Given the description of an element on the screen output the (x, y) to click on. 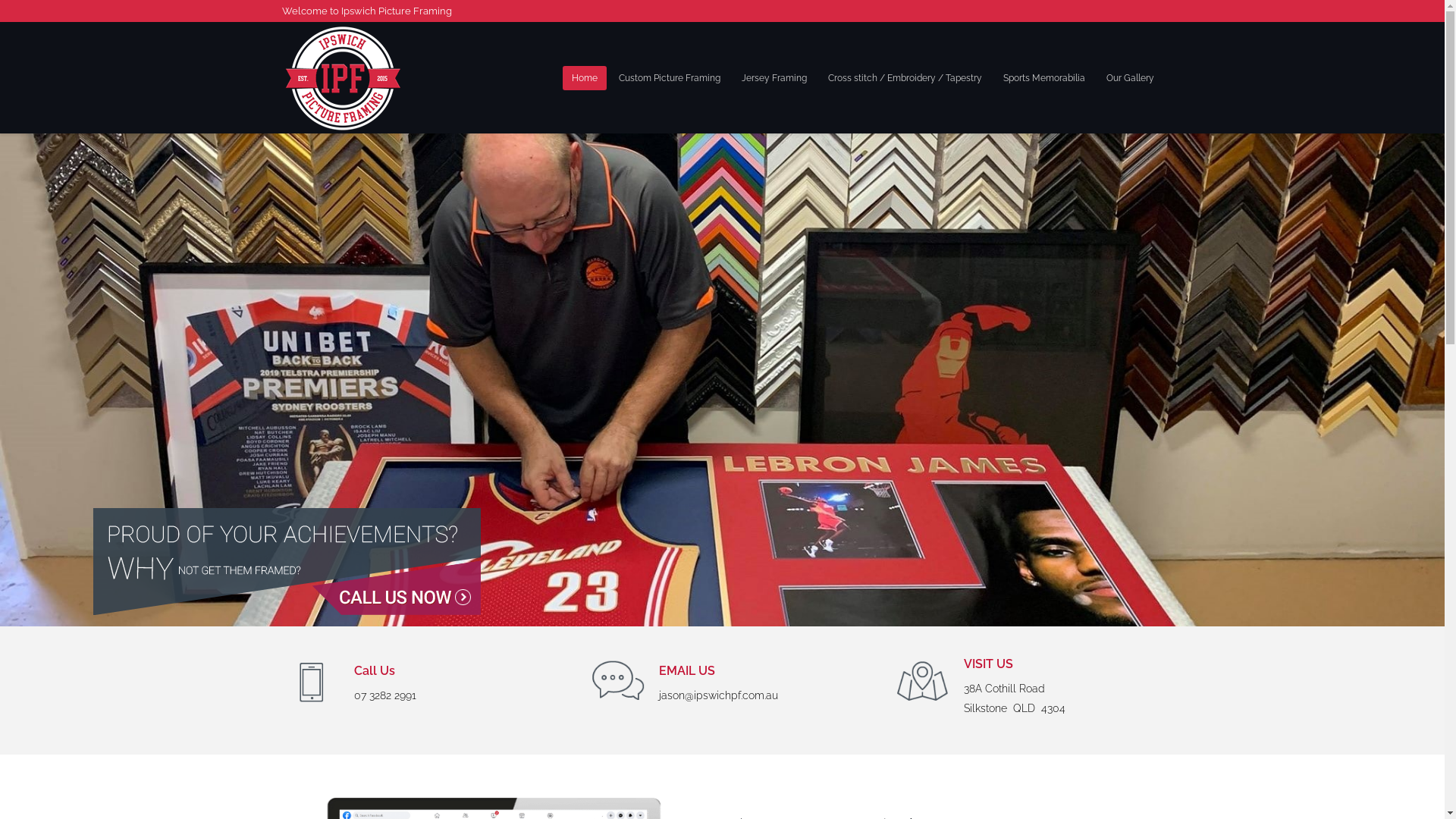
Our Gallery Element type: text (1129, 77)
Cross stitch / Embroidery / Tapestry Element type: text (905, 77)
Jersey Framing Element type: text (773, 77)
Sports Memorabilia Element type: text (1043, 77)
Custom Picture Framing Element type: text (669, 77)
Home Element type: text (584, 77)
